Given the description of an element on the screen output the (x, y) to click on. 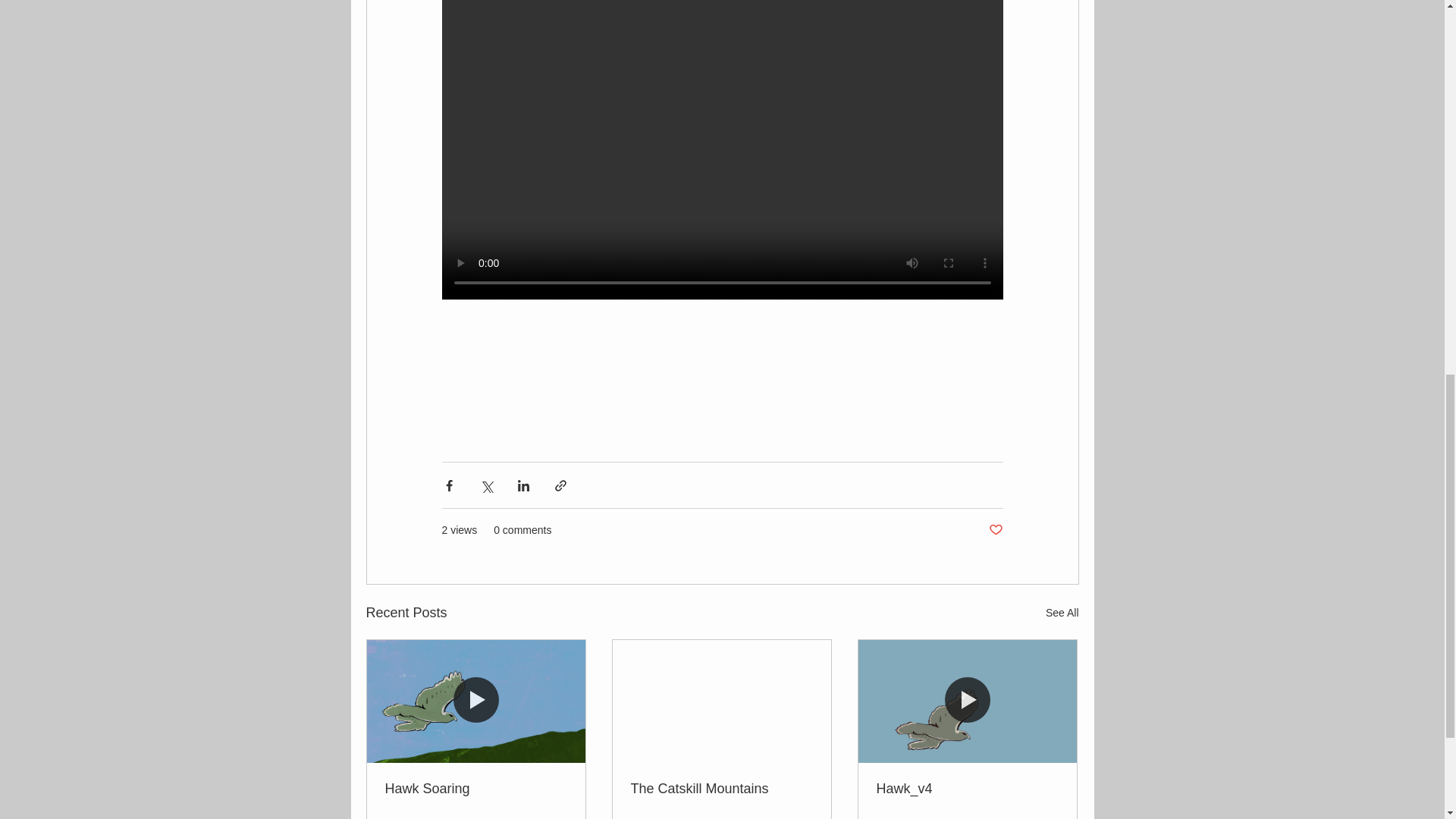
See All (1061, 612)
Hawk Soaring (476, 788)
Post not marked as liked (995, 530)
The Catskill Mountains (721, 788)
